Given the description of an element on the screen output the (x, y) to click on. 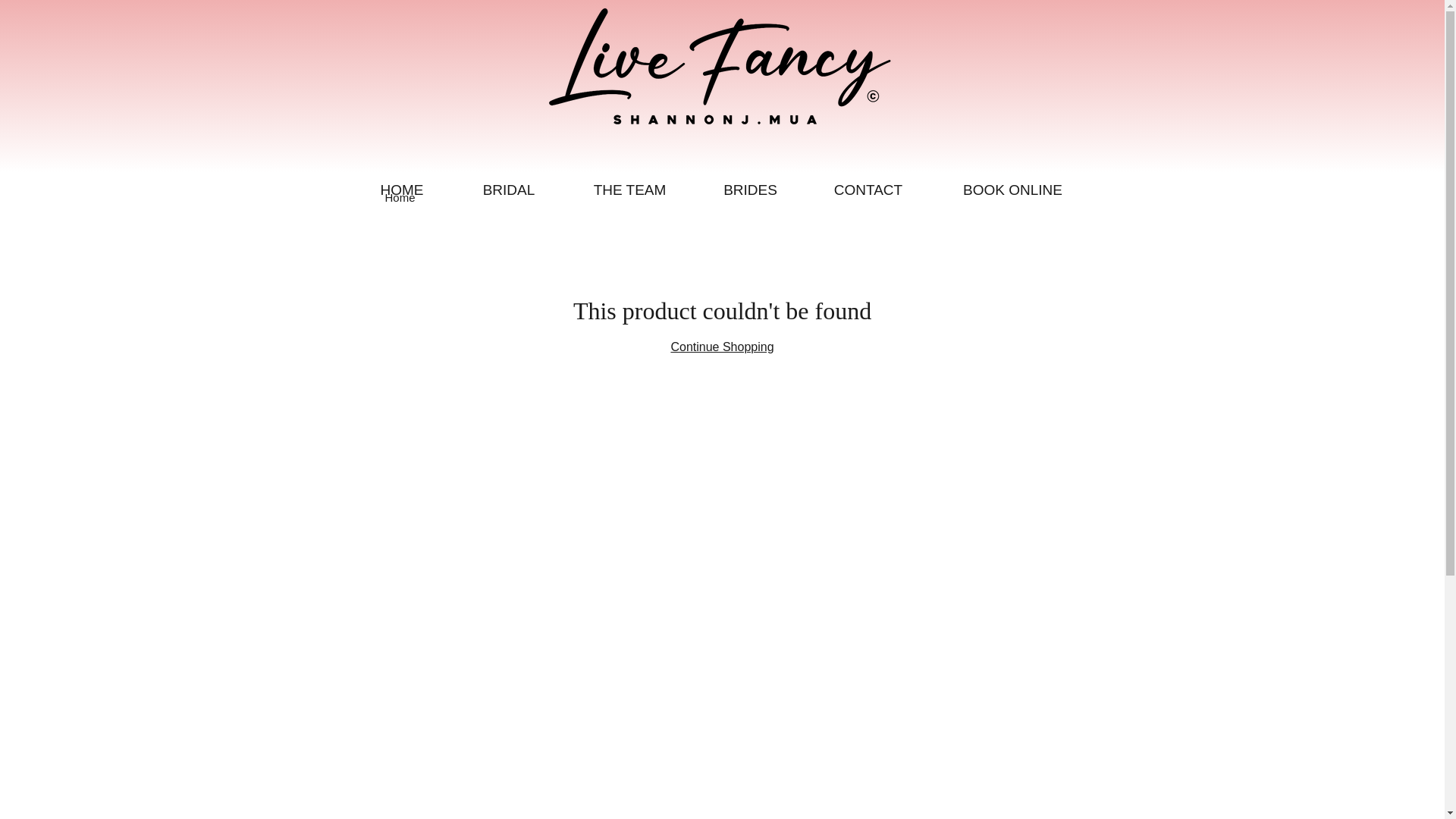
Home (399, 196)
HOME (402, 190)
BRIDAL (508, 190)
BRIDES (749, 190)
CONTACT (868, 190)
Continue Shopping (721, 346)
THE TEAM (629, 190)
BOOK ONLINE (1013, 190)
